Given the description of an element on the screen output the (x, y) to click on. 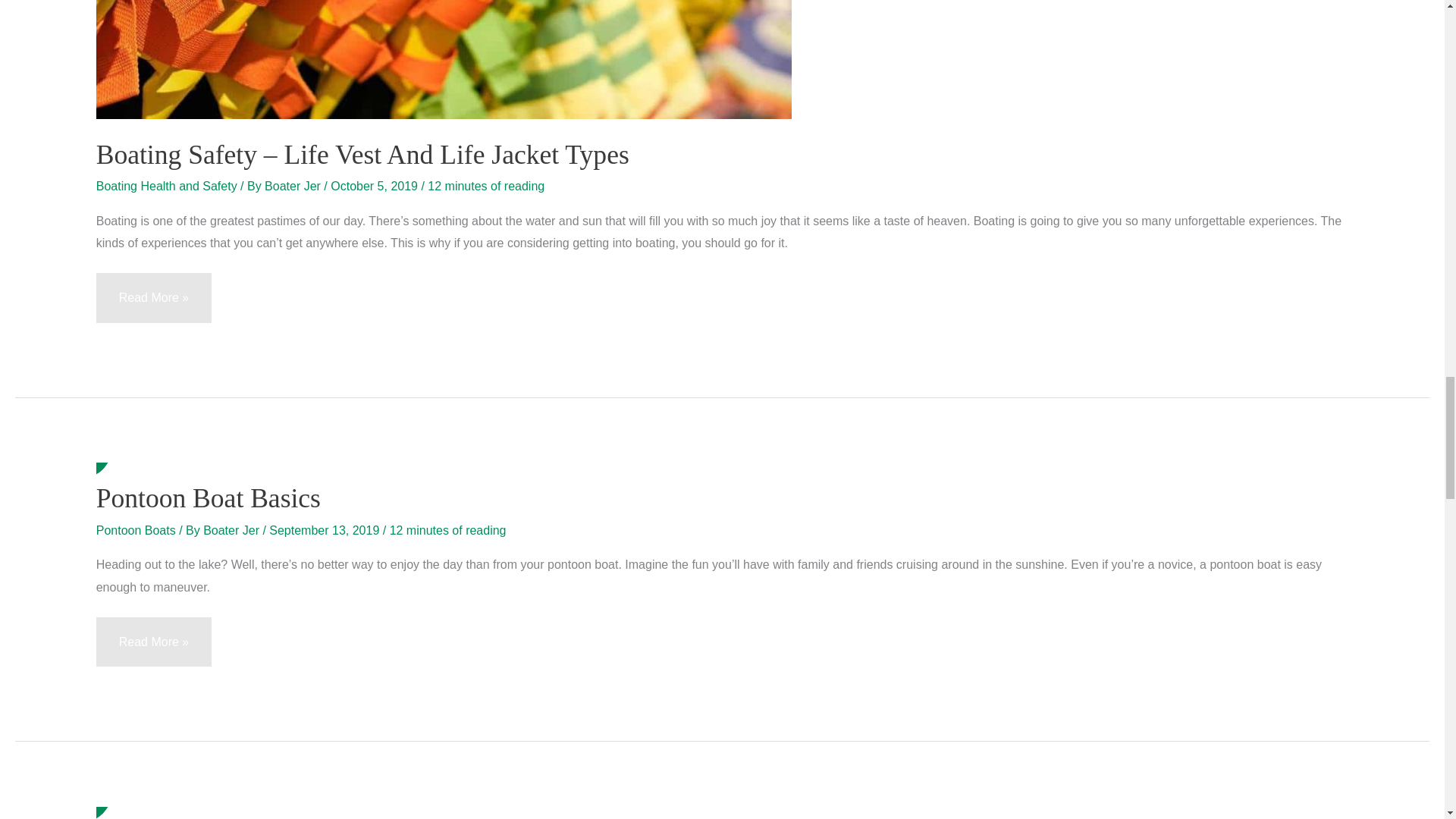
Boating Health and Safety (166, 185)
Boater Jer (293, 185)
Pontoon Boat Basics (208, 498)
View all posts by Boater Jer (293, 185)
View all posts by Boater Jer (232, 530)
Pontoon Boats (136, 530)
